Given the description of an element on the screen output the (x, y) to click on. 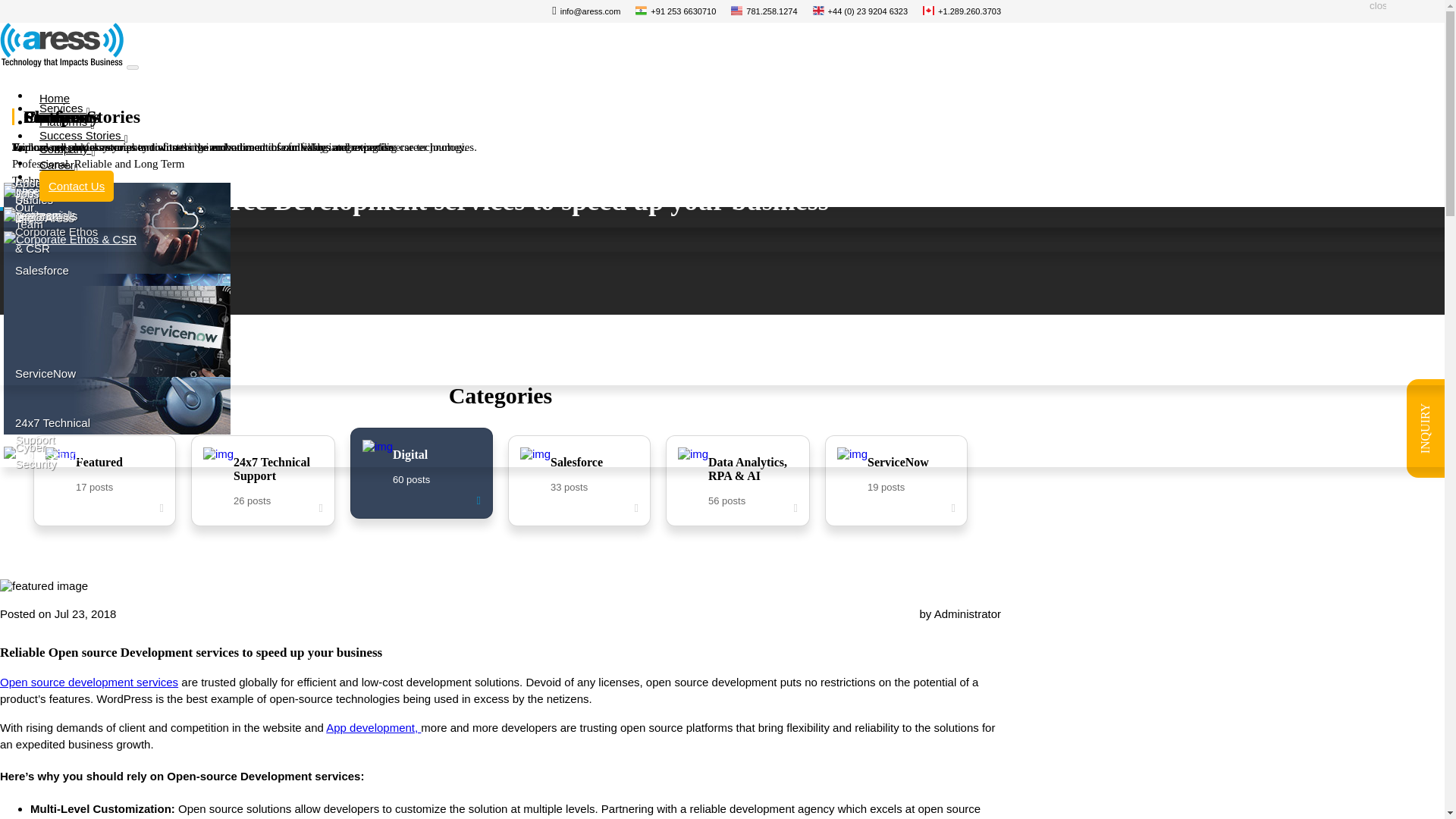
About Us (31, 190)
Jobs (18, 192)
Home (54, 102)
Services (44, 327)
Company (117, 302)
Salesforce (64, 112)
Our Team (67, 153)
Testimonials (117, 269)
